Given the description of an element on the screen output the (x, y) to click on. 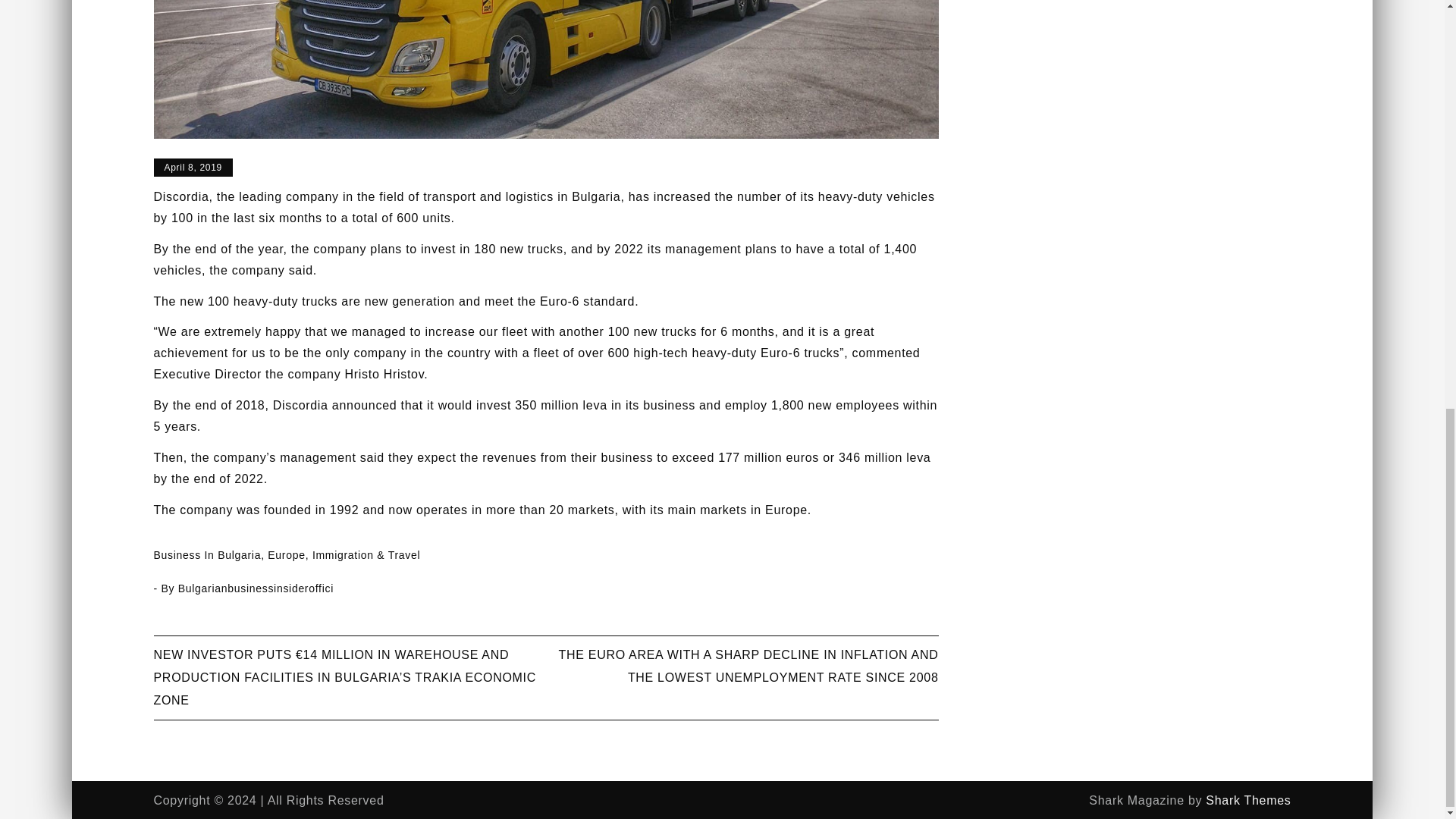
Europe (285, 554)
April 8, 2019 (191, 167)
Bulgarianbusinessinsideroffici (255, 588)
Business In Bulgaria (206, 554)
Shark Themes (1247, 799)
